Given the description of an element on the screen output the (x, y) to click on. 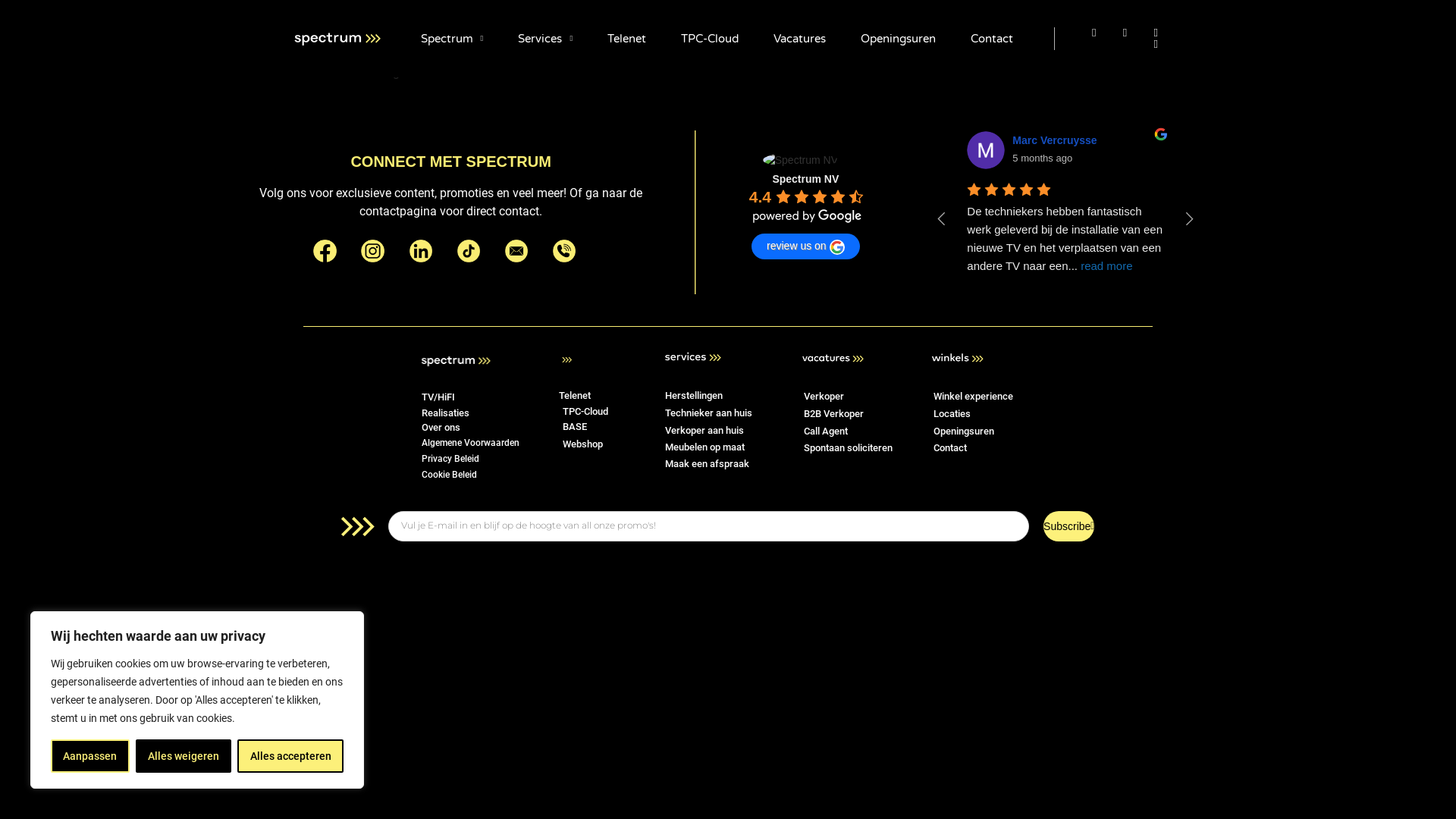
Alles weigeren Element type: text (183, 755)
Verkoper aan huis Element type: text (704, 429)
Aanpassen Element type: text (89, 755)
TV/HiFI Element type: text (438, 396)
Verkoper Element type: text (823, 395)
Services Element type: text (544, 38)
Maak een afspraak Element type: text (706, 463)
Marc Vercruysse Element type: text (586, 140)
B2B Verkoper Element type: text (833, 413)
Cookie Beleid Element type: text (449, 474)
TPC-Cloud Element type: text (709, 38)
TPC-Cloud Element type: text (585, 410)
Openingsuren Element type: text (897, 38)
Spectrum Element type: text (451, 38)
Marc Vercruysse Element type: hover (911, 150)
Openingsuren Element type: text (963, 430)
Telenet Element type: text (626, 38)
Telenet Element type: text (574, 394)
Stefanie Vandenabeele Element type: text (1072, 140)
Contact Element type: text (950, 447)
Call Agent Element type: text (825, 430)
Mordigan Element type: text (803, 140)
review us on Element type: text (805, 246)
Subscribe Element type: text (1068, 526)
Contact Element type: text (991, 38)
Algemene Voorwaarden Element type: text (470, 442)
Winkel experience Element type: text (973, 395)
Stefanie Vandenabeele Element type: hover (1433, 150)
Privacy Beleid Element type: text (450, 458)
Spontaan soliciteren Element type: text (847, 447)
BASE Element type: text (574, 426)
Technieker aan huis Element type: text (708, 412)
powered by Google Element type: hover (807, 215)
Vacatures Element type: text (799, 38)
Spectrum NV Element type: text (804, 178)
Alles accepteren Element type: text (290, 755)
Locaties Element type: text (951, 413)
Meubelen op maat Element type: text (704, 446)
Spectrum NV Element type: hover (799, 159)
Webshop Element type: text (582, 443)
Herstellingen Element type: text (693, 394)
Over ons Element type: text (440, 426)
Realisaties Element type: text (445, 412)
Mordigan Element type: hover (1184, 150)
